Given the description of an element on the screen output the (x, y) to click on. 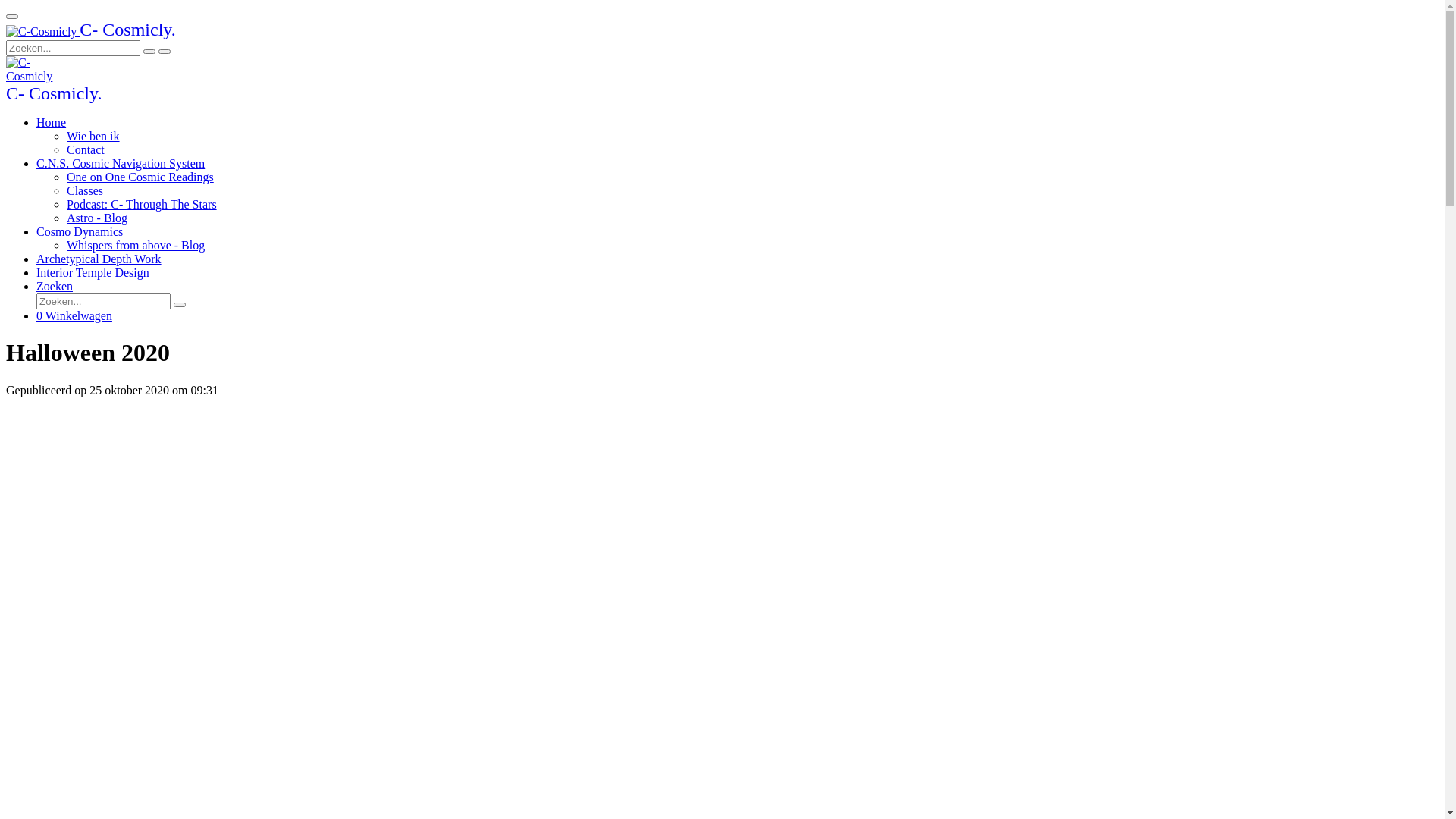
Wie ben ik Element type: text (92, 135)
Cosmo Dynamics Element type: text (79, 231)
Zoeken Element type: text (54, 285)
Home Element type: text (50, 122)
Contact Element type: text (85, 149)
C.N.S. Cosmic Navigation System Element type: text (120, 162)
Interior Temple Design Element type: text (92, 272)
Classes Element type: text (84, 190)
C- Cosmicly. Element type: text (53, 94)
Astro - Blog Element type: text (96, 217)
C-Cosmicly Element type: hover (35, 69)
Archetypical Depth Work Element type: text (98, 258)
One on One Cosmic Readings Element type: text (139, 176)
Whispers from above - Blog Element type: text (135, 244)
Podcast: C- Through The Stars Element type: text (141, 203)
0 Winkelwagen Element type: text (74, 315)
C- Cosmicly. Element type: text (90, 31)
C-Cosmicly Element type: hover (41, 31)
